Given the description of an element on the screen output the (x, y) to click on. 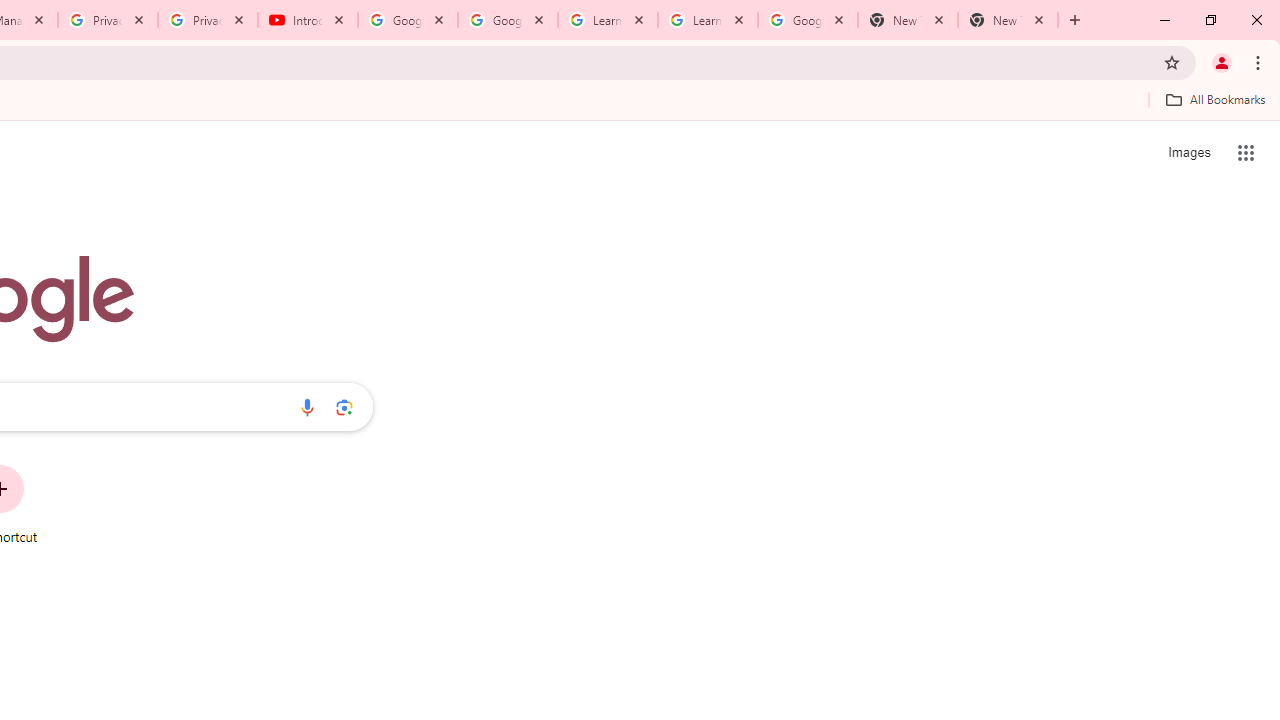
Google Account Help (408, 20)
Search by voice (307, 407)
Google Account Help (508, 20)
New Tab (1007, 20)
New Tab (907, 20)
